Given the description of an element on the screen output the (x, y) to click on. 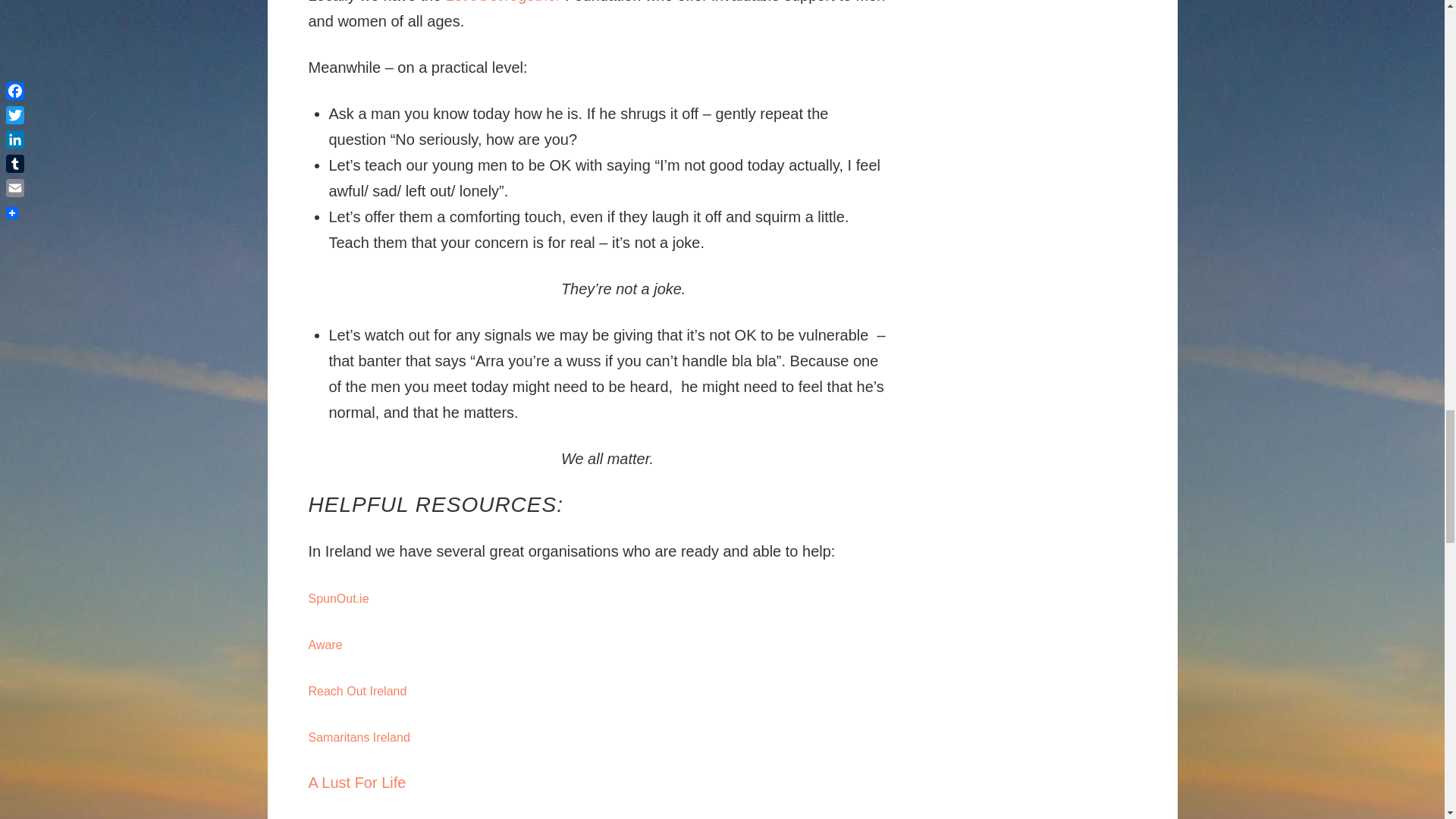
Aware (324, 644)
SpunOut.ie (337, 598)
